Given the description of an element on the screen output the (x, y) to click on. 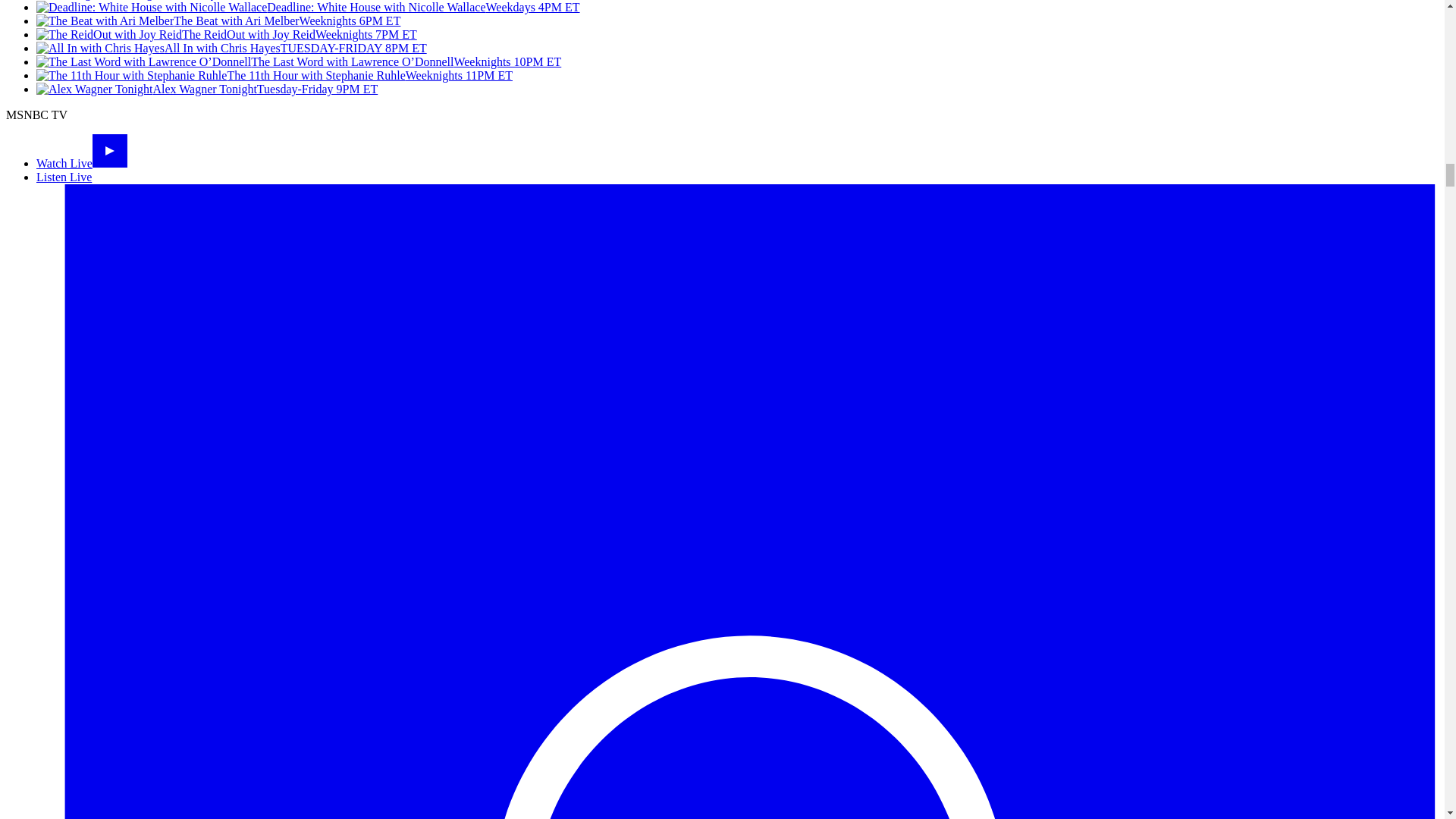
The 11th Hour with Stephanie RuhleWeeknights 11PM ET (274, 74)
The ReidOut with Joy ReidWeeknights 7PM ET (226, 33)
The Beat with Ari MelberWeeknights 6PM ET (218, 20)
Watch Live (82, 163)
Deadline: White House with Nicolle WallaceWeekdays 4PM ET (307, 6)
All In with Chris HayesTUESDAY-FRIDAY 8PM ET (231, 47)
Alex Wagner TonightTuesday-Friday 9PM ET (206, 88)
